Given the description of an element on the screen output the (x, y) to click on. 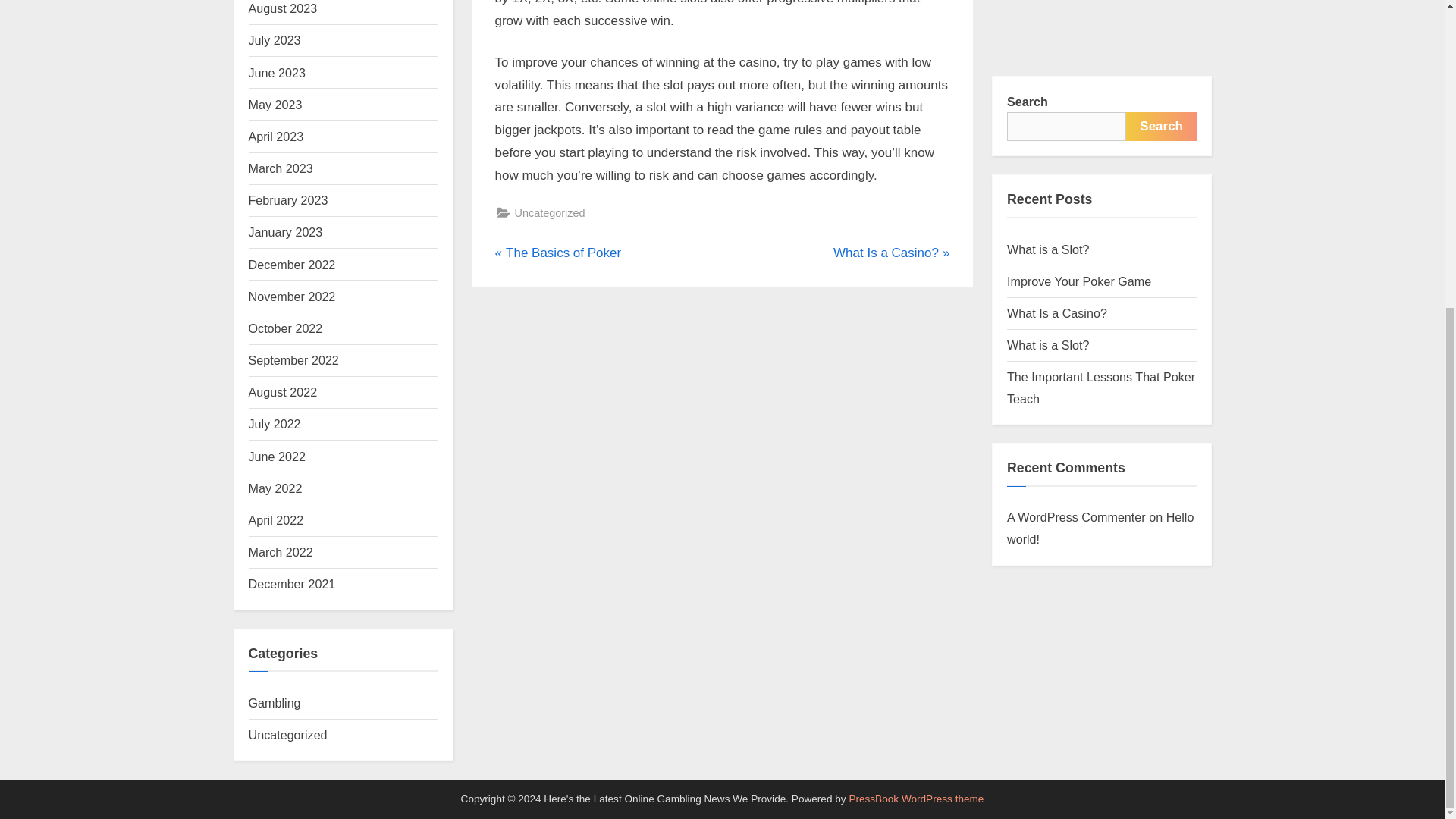
Uncategorized (287, 735)
June 2022 (276, 456)
July 2022 (274, 423)
August 2023 (282, 8)
November 2022 (292, 296)
Uncategorized (549, 212)
July 2023 (274, 39)
August 2022 (282, 391)
December 2021 (292, 583)
January 2023 (285, 232)
September 2022 (890, 252)
May 2023 (293, 359)
March 2023 (558, 252)
